Given the description of an element on the screen output the (x, y) to click on. 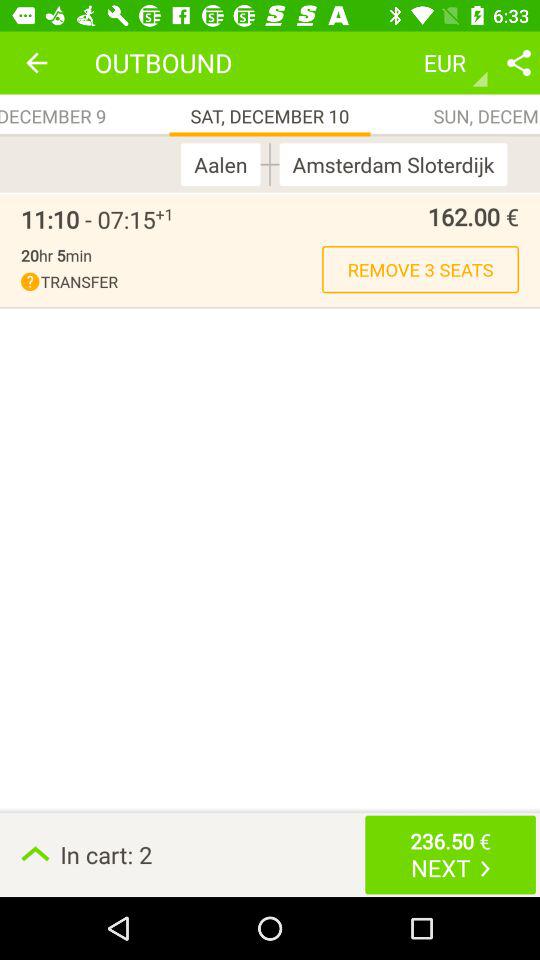
choose the item to the left of +1 item (88, 219)
